Given the description of an element on the screen output the (x, y) to click on. 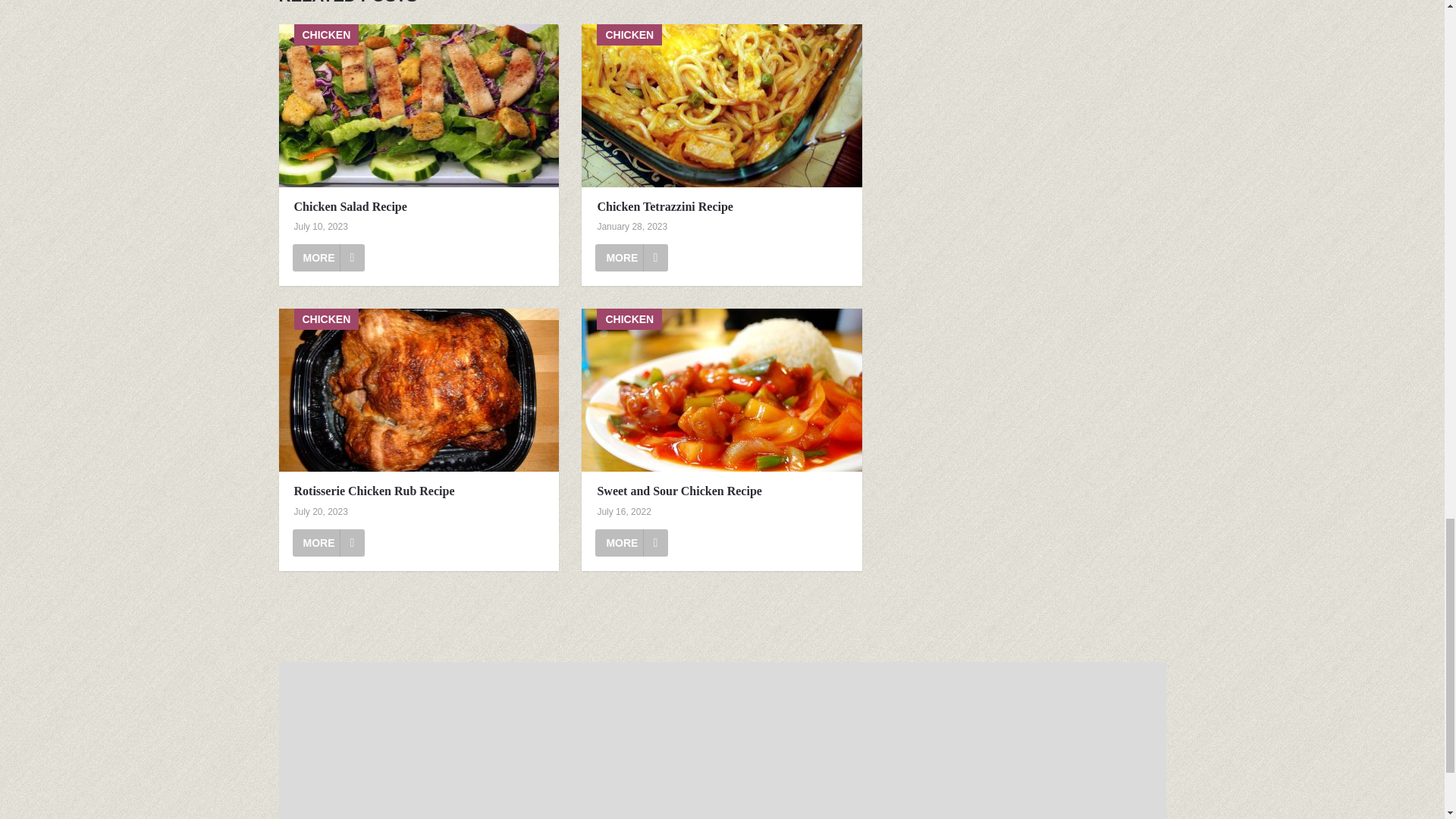
Chicken Salad Recipe (419, 206)
Rotisserie Chicken Rub Recipe (328, 542)
Rotisserie Chicken Rub Recipe (419, 490)
Chicken Tetrazzini Recipe (631, 257)
Rotisserie Chicken Rub Recipe (419, 389)
CHICKEN (720, 389)
MORE (631, 542)
MORE (328, 542)
Chicken Tetrazzini Recipe (720, 105)
Sweet and Sour Chicken Recipe (721, 490)
